Given the description of an element on the screen output the (x, y) to click on. 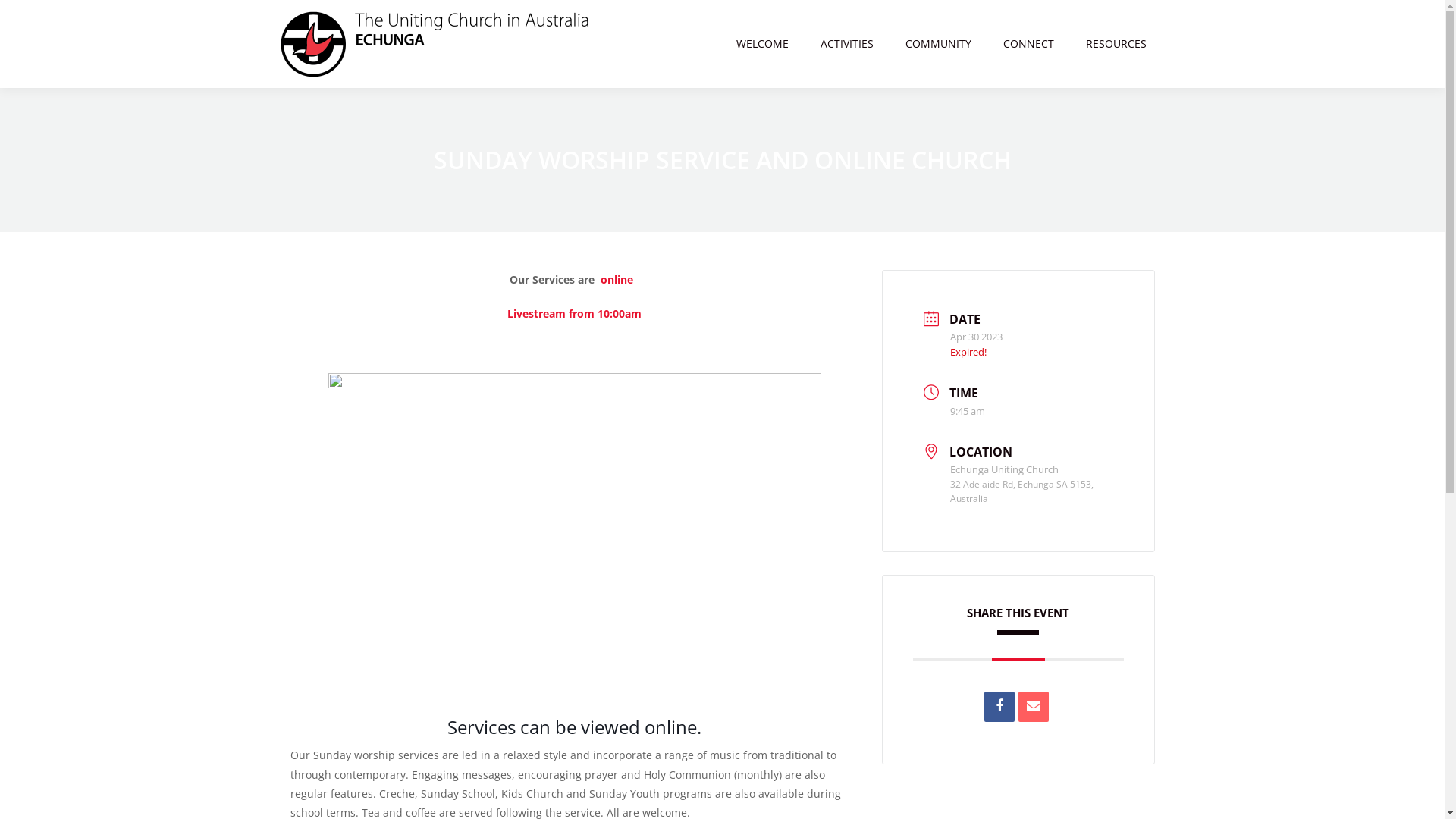
Services can be viewed online. Element type: text (574, 726)
CONNECT Element type: text (1031, 43)
ACTIVITIES Element type: text (850, 43)
online Element type: text (616, 279)
RESOURCES Element type: text (1119, 43)
Livestream from 10:00am Element type: text (574, 313)
Email Element type: hover (1032, 706)
Share on Facebook Element type: hover (999, 706)
COMMUNITY Element type: text (942, 43)
WELCOME Element type: text (765, 43)
